Given the description of an element on the screen output the (x, y) to click on. 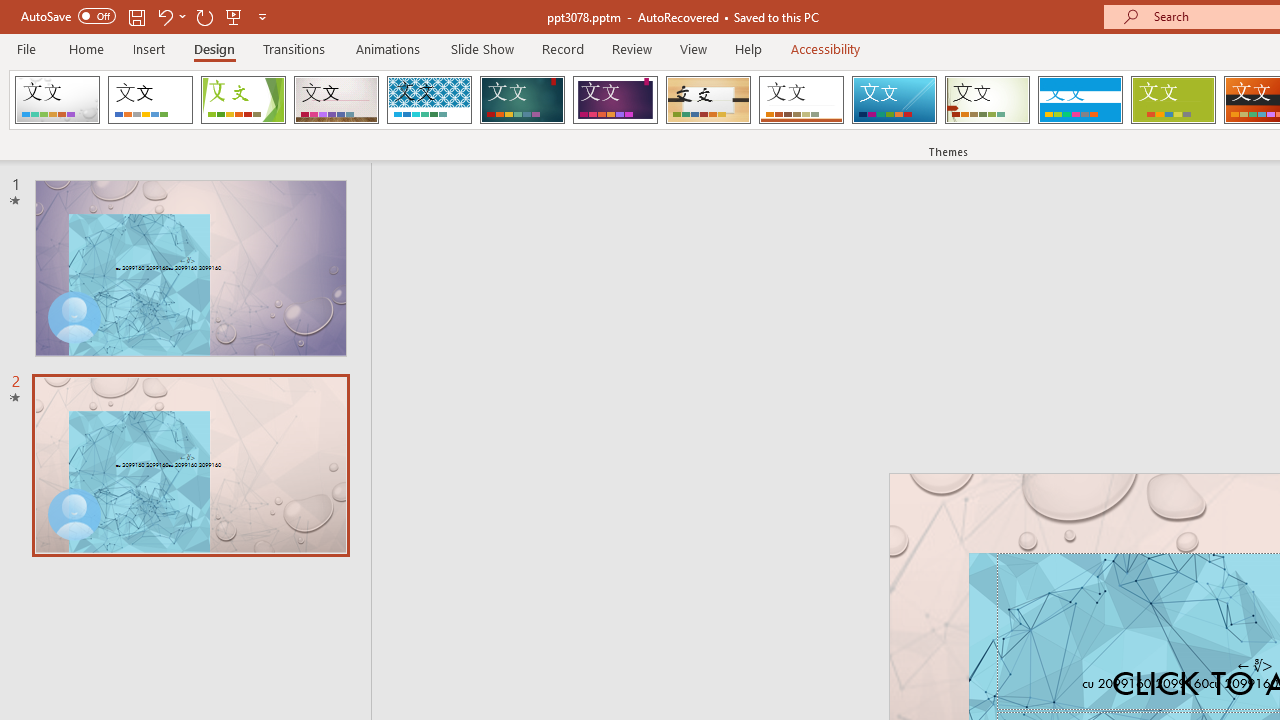
Slice (893, 100)
Retrospect (801, 100)
Ion Boardroom (615, 100)
Organic (708, 100)
TextBox 7 (1254, 666)
